Given the description of an element on the screen output the (x, y) to click on. 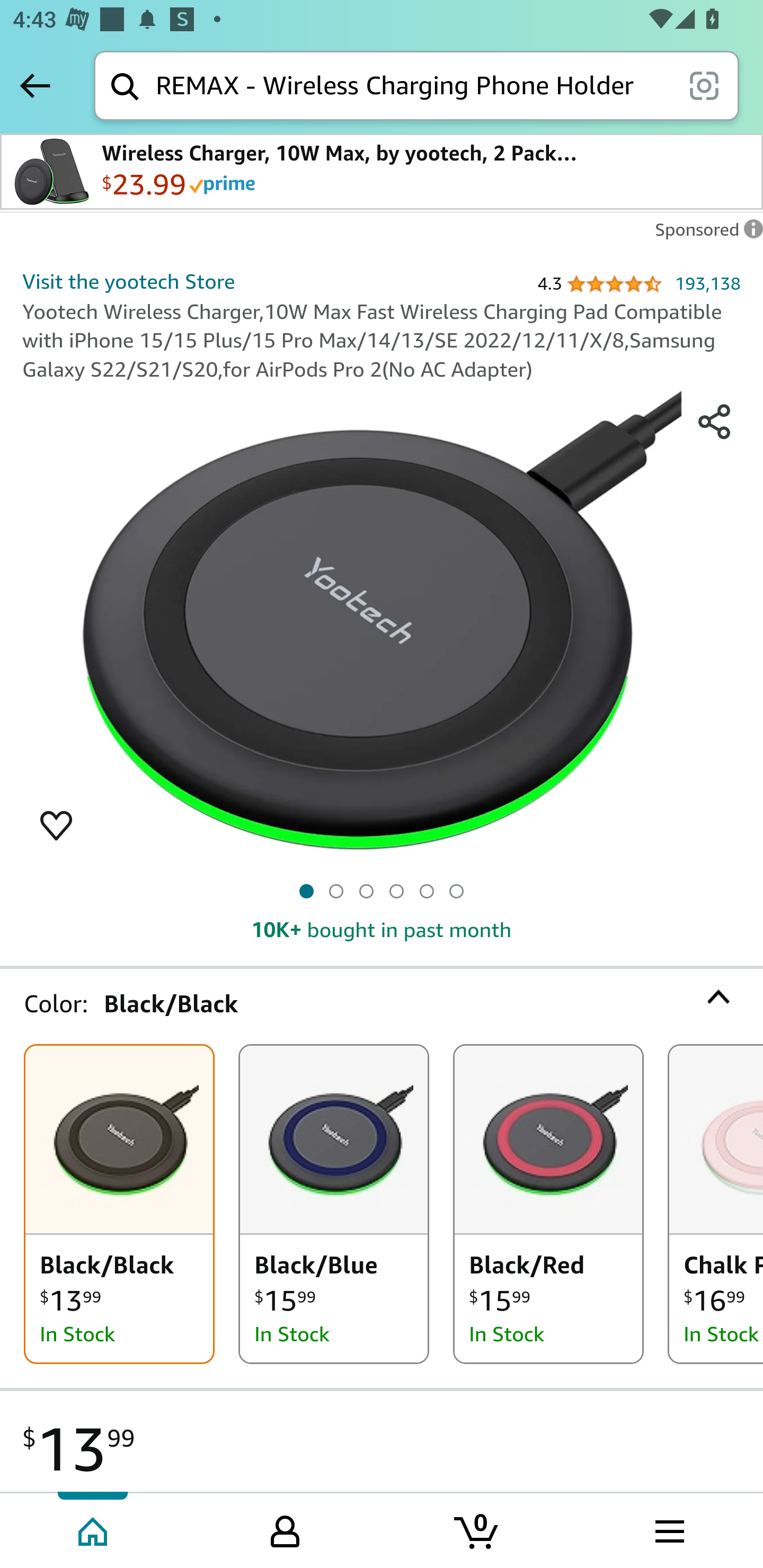
Back (35, 85)
scan it (704, 85)
Leave feedback on Sponsored ad Sponsored  (703, 234)
Visit the yootech Store (128, 281)
Heart to save an item to your default list (56, 824)
Black/Black $13.99 In Stock (118, 1204)
Black/Blue $15.99 In Stock (333, 1204)
Black/Red $15.99 In Stock (548, 1204)
Home Tab 1 of 4 (94, 1529)
Your Amazon.com Tab 2 of 4 (285, 1529)
Cart 0 item Tab 3 of 4 0 (477, 1529)
Browse menu Tab 4 of 4 (668, 1529)
